Given the description of an element on the screen output the (x, y) to click on. 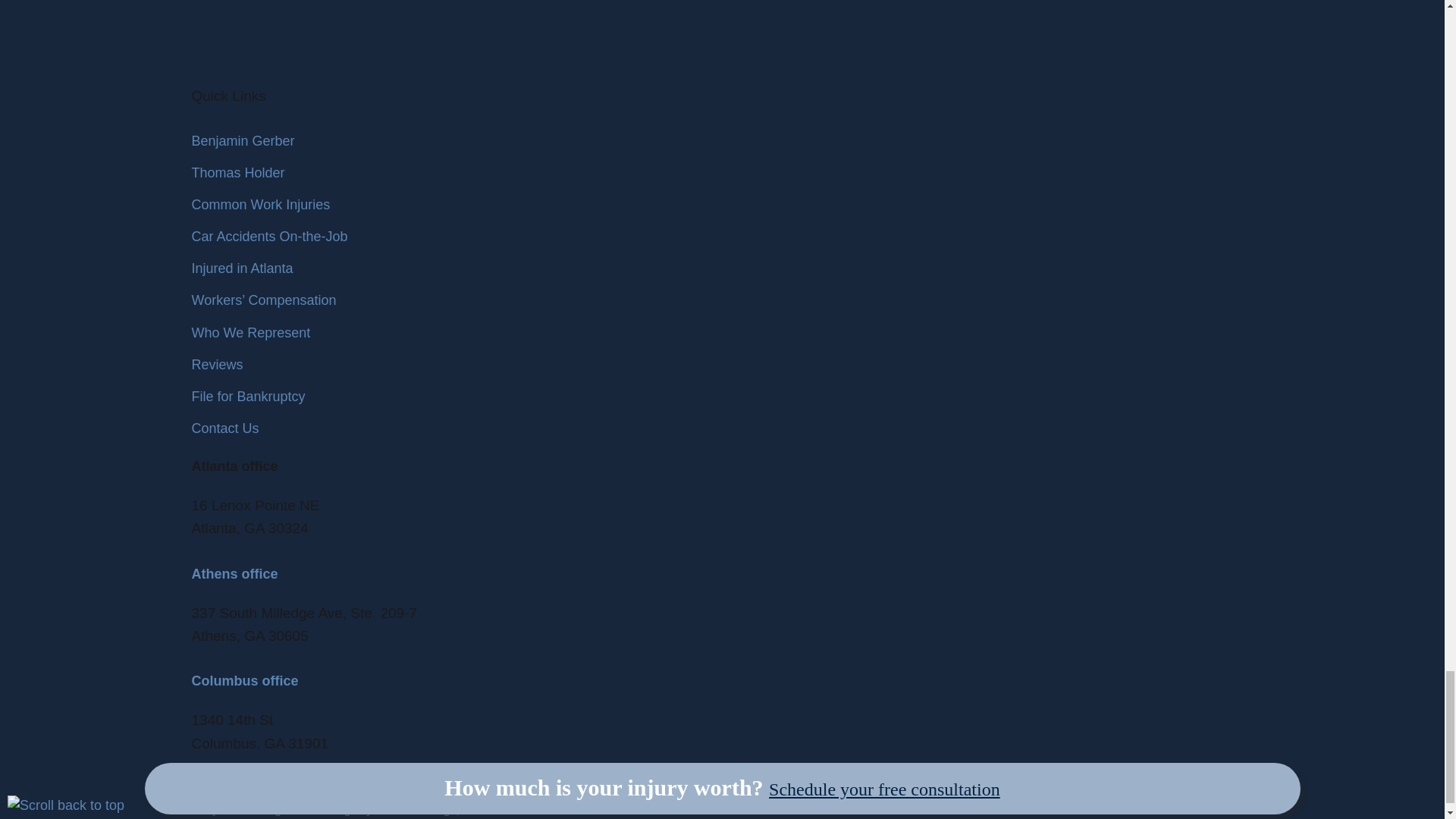
law firm marketing by SEO Advantage, Inc. (335, 809)
